Given the description of an element on the screen output the (x, y) to click on. 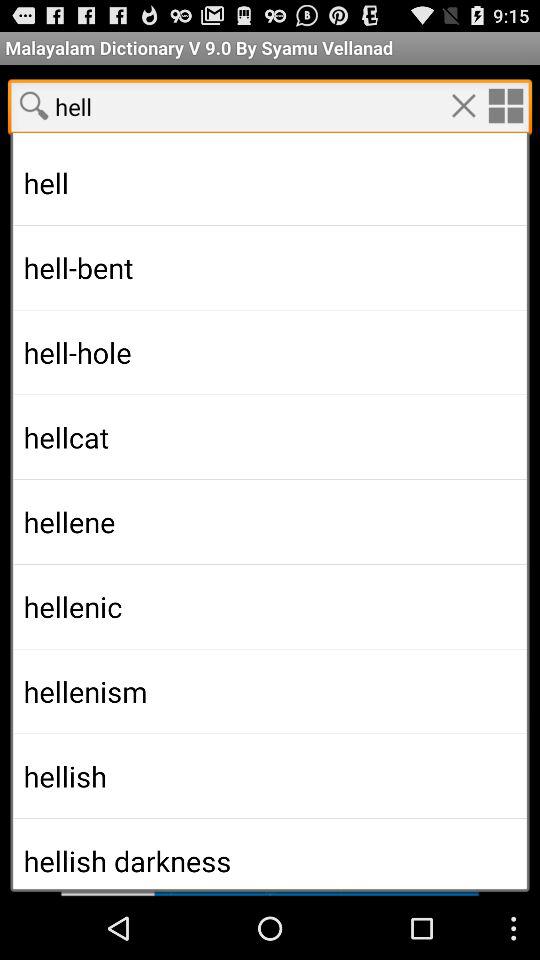
clear text (463, 105)
